Given the description of an element on the screen output the (x, y) to click on. 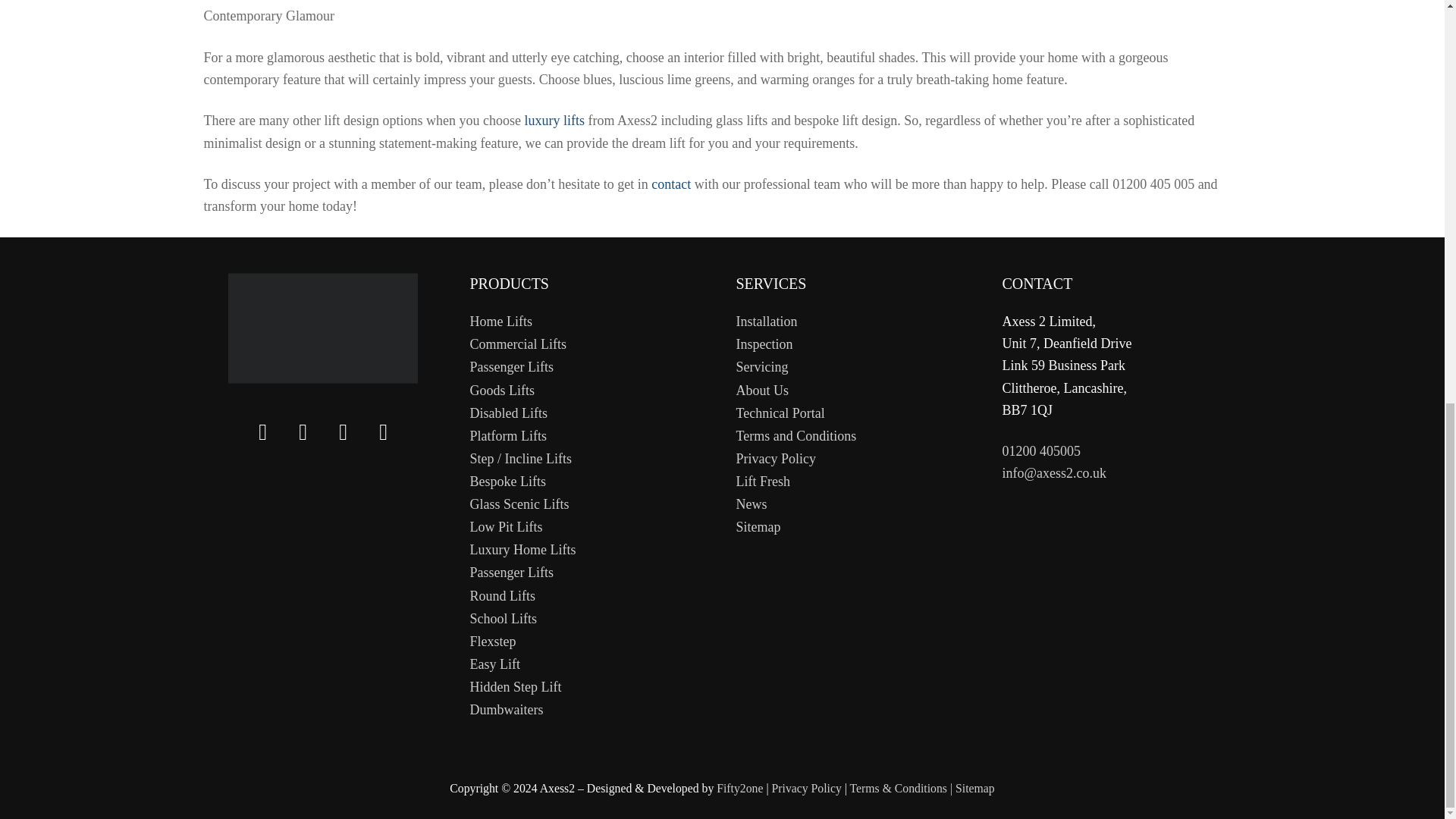
Twitter (263, 436)
Email (383, 436)
Facebook (303, 436)
Youtube (343, 436)
